Given the description of an element on the screen output the (x, y) to click on. 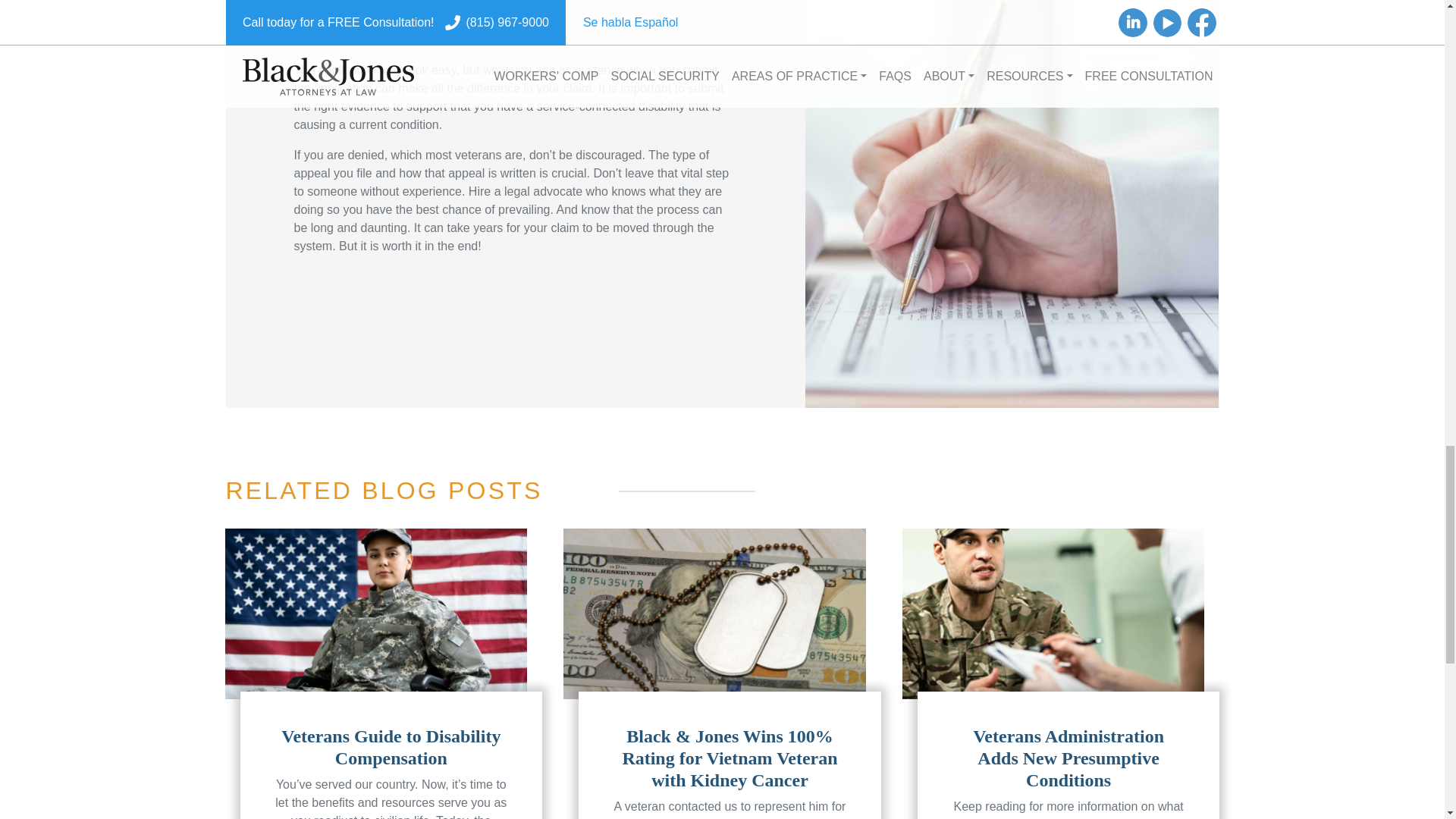
Veterans Guide to Disability Compensation (390, 747)
Veterans Administration Adds New Presumptive Conditions (1067, 758)
